Given the description of an element on the screen output the (x, y) to click on. 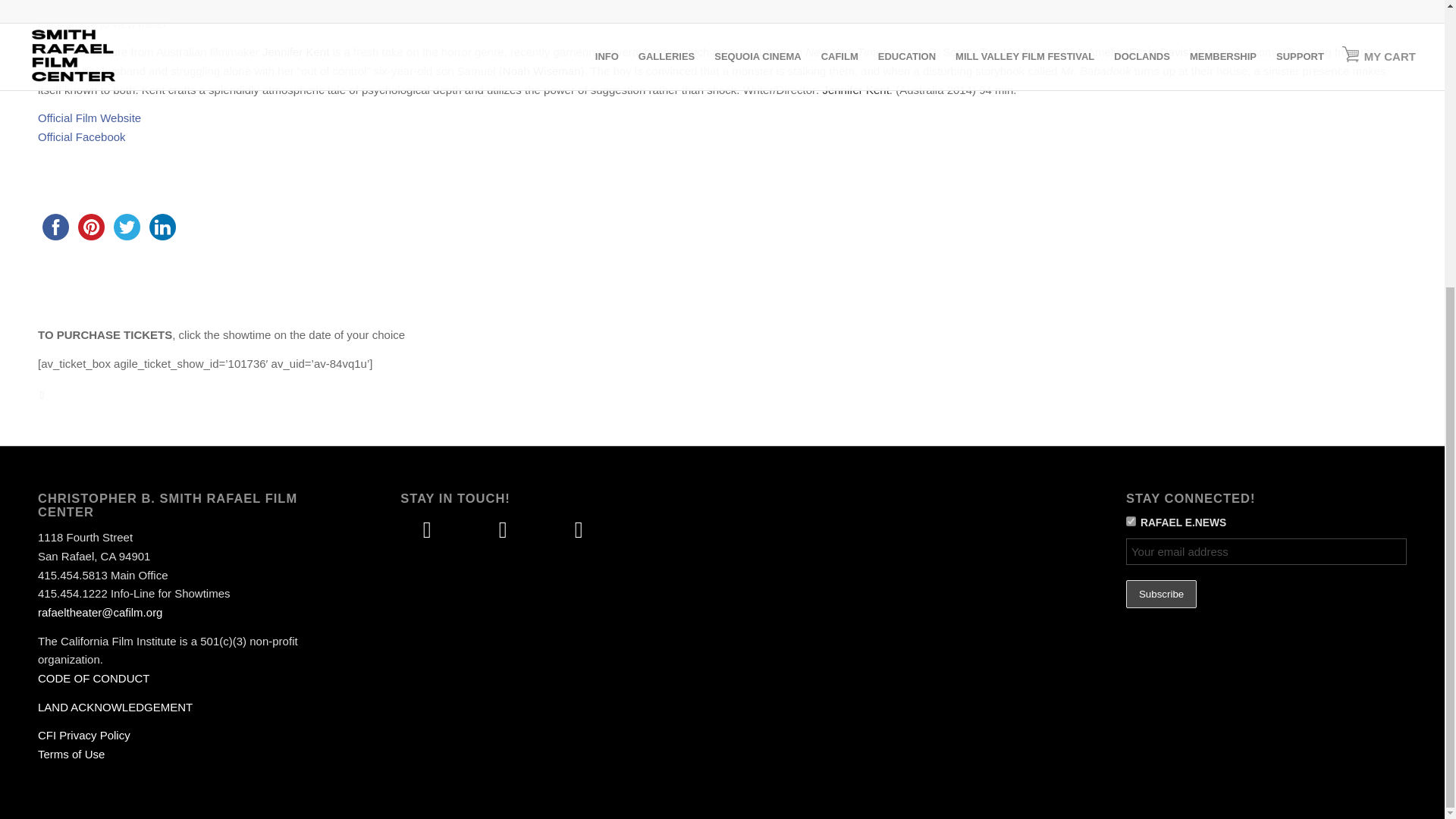
3641185571 (1130, 521)
Subscribe (1160, 593)
